Given the description of an element on the screen output the (x, y) to click on. 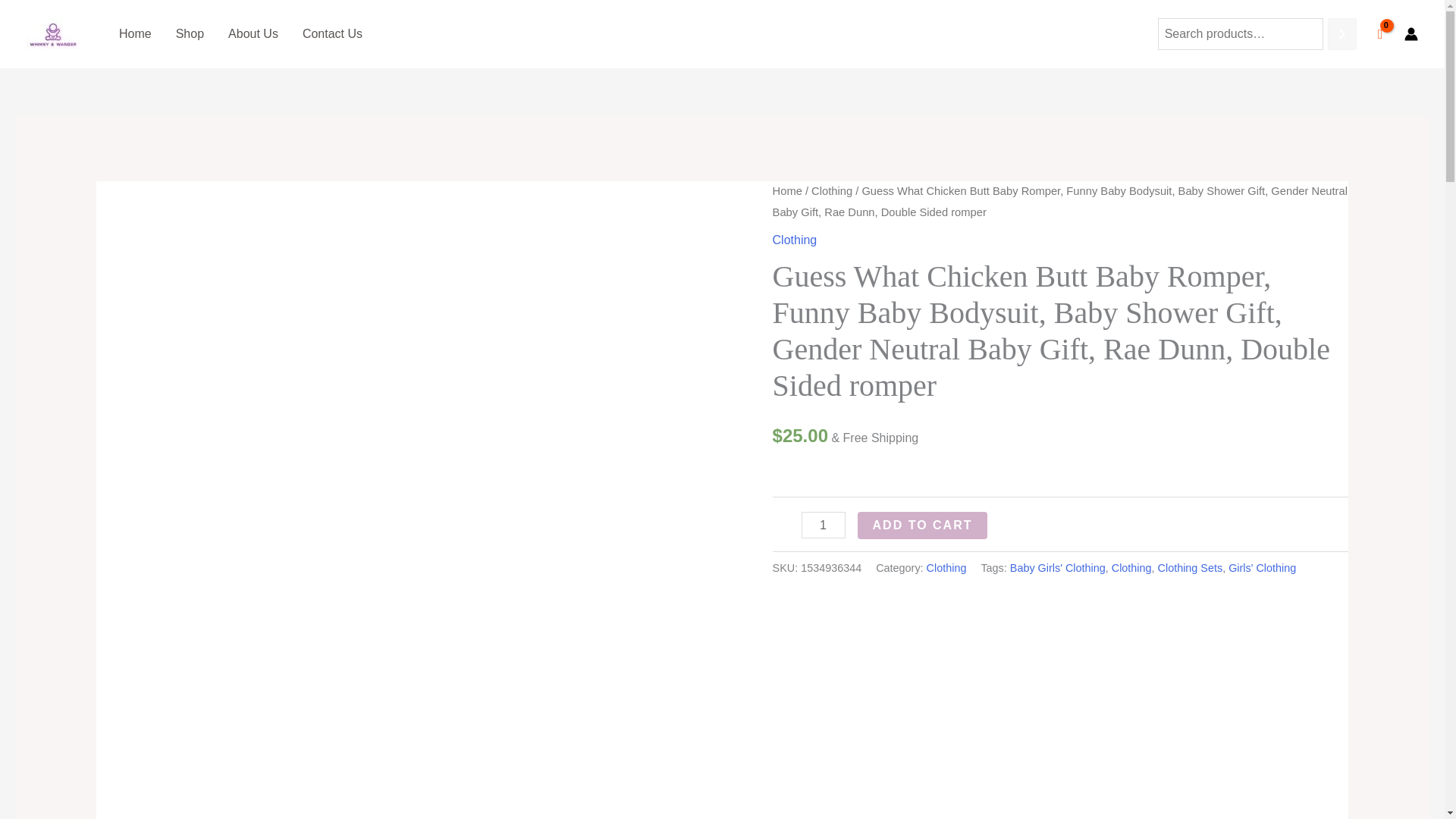
Clothing Sets (1190, 567)
Home (787, 191)
About Us (252, 33)
Baby Girls' Clothing (1057, 567)
Girls' Clothing (1261, 567)
Log In (687, 626)
ADD TO CART (922, 524)
Clothing (946, 567)
Clothing (1131, 567)
Clothing (794, 239)
1 (823, 524)
Contact Us (331, 33)
Clothing (830, 191)
